Given the description of an element on the screen output the (x, y) to click on. 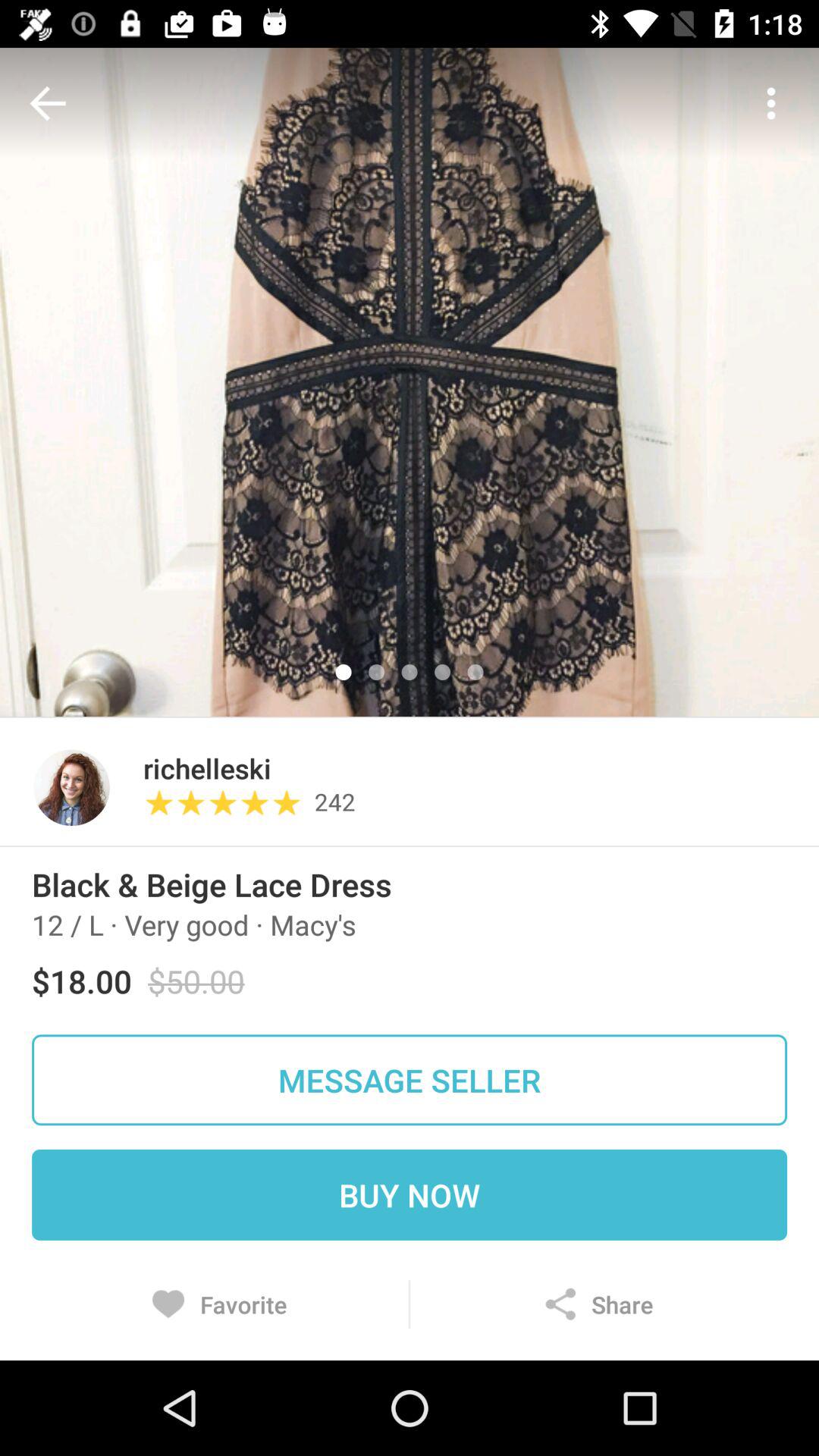
scroll to message seller item (409, 1079)
